Given the description of an element on the screen output the (x, y) to click on. 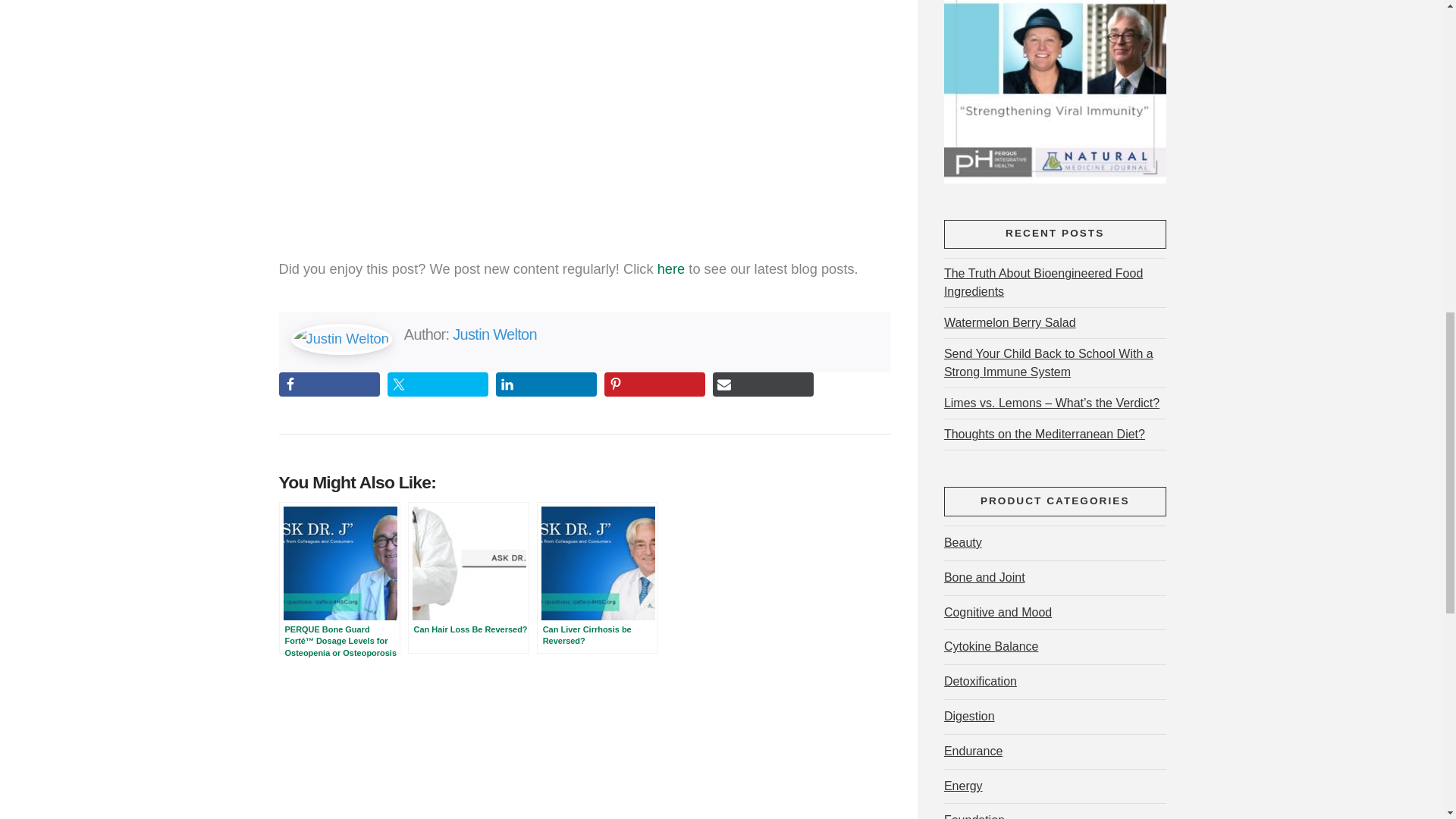
Share on Facebook (329, 384)
Share via Email (763, 384)
Share on LinkedIn (546, 384)
Share on Twitter (437, 384)
Share on Pinterest (654, 384)
